Given the description of an element on the screen output the (x, y) to click on. 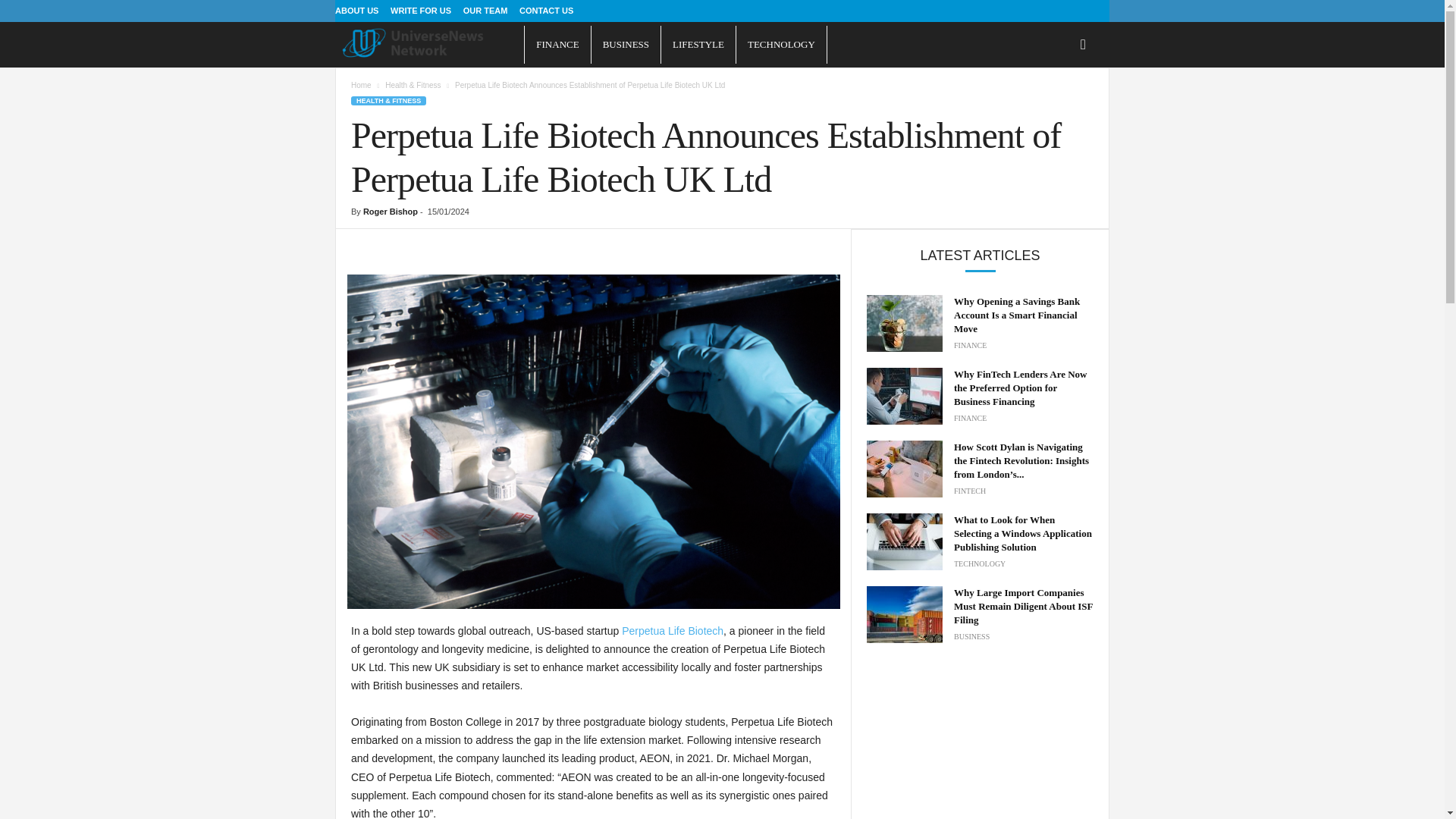
LIFESTYLE (698, 44)
CONTACT US (546, 10)
TECHNOLOGY (781, 44)
ABOUT US (356, 10)
FINANCE (556, 44)
BUSINESS (626, 44)
Universe News Network (429, 43)
OUR TEAM (485, 10)
Perpetua Life Biotech (672, 630)
